Given the description of an element on the screen output the (x, y) to click on. 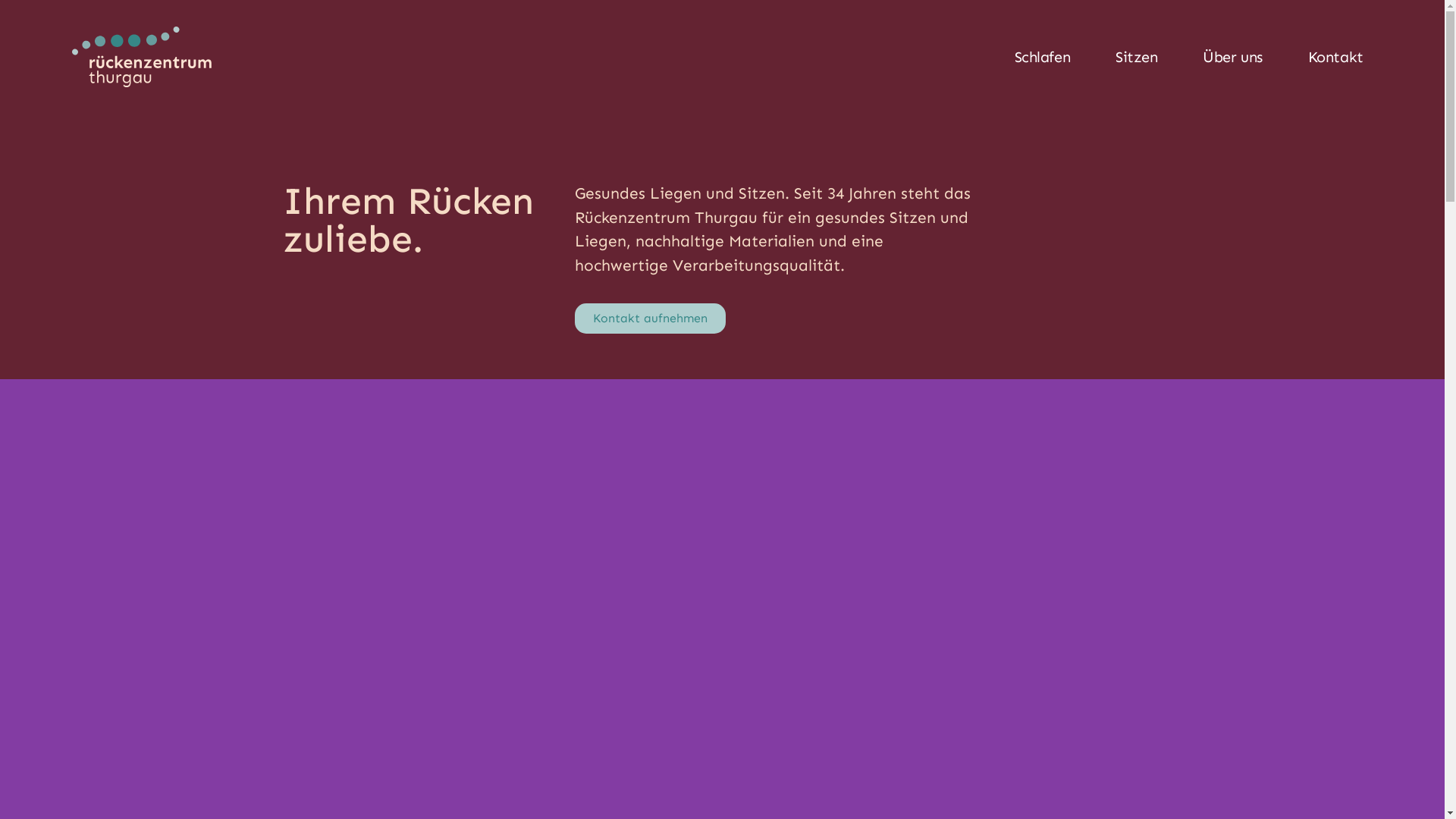
Sitzen Element type: text (1135, 56)
Kontakt aufnehmen Element type: text (649, 318)
Schlafen Element type: text (1042, 56)
Kontakt Element type: text (1335, 56)
